Given the description of an element on the screen output the (x, y) to click on. 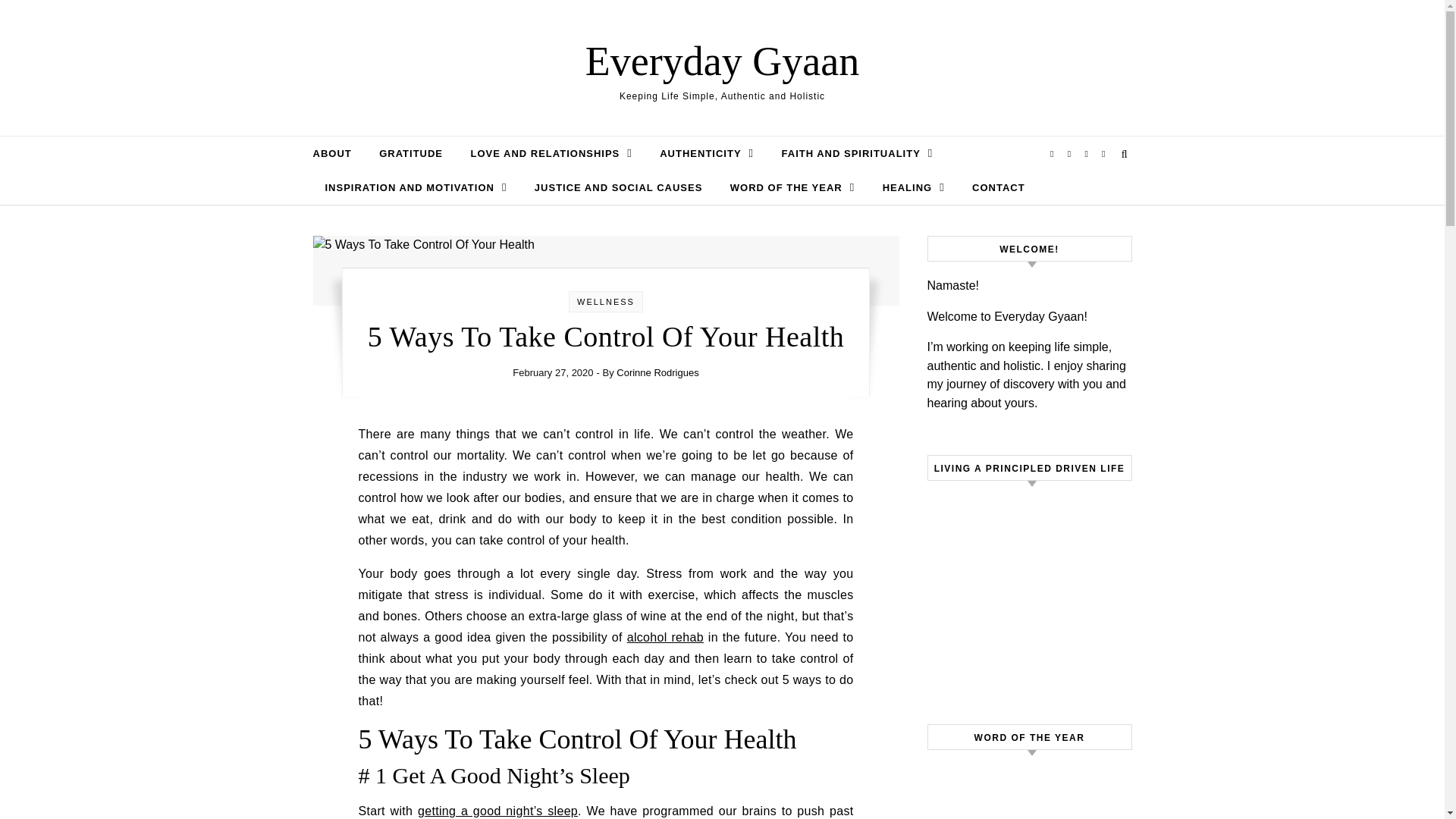
LOVE AND RELATIONSHIPS (550, 153)
AUTHENTICITY (706, 153)
WORD OF THE YEAR (791, 187)
GRATITUDE (410, 153)
JUSTICE AND SOCIAL CAUSES (618, 187)
INSPIRATION AND MOTIVATION (415, 187)
HEALING (913, 187)
ABOUT (337, 153)
Everyday Gyaan (721, 61)
CONTACT (992, 187)
